Given the description of an element on the screen output the (x, y) to click on. 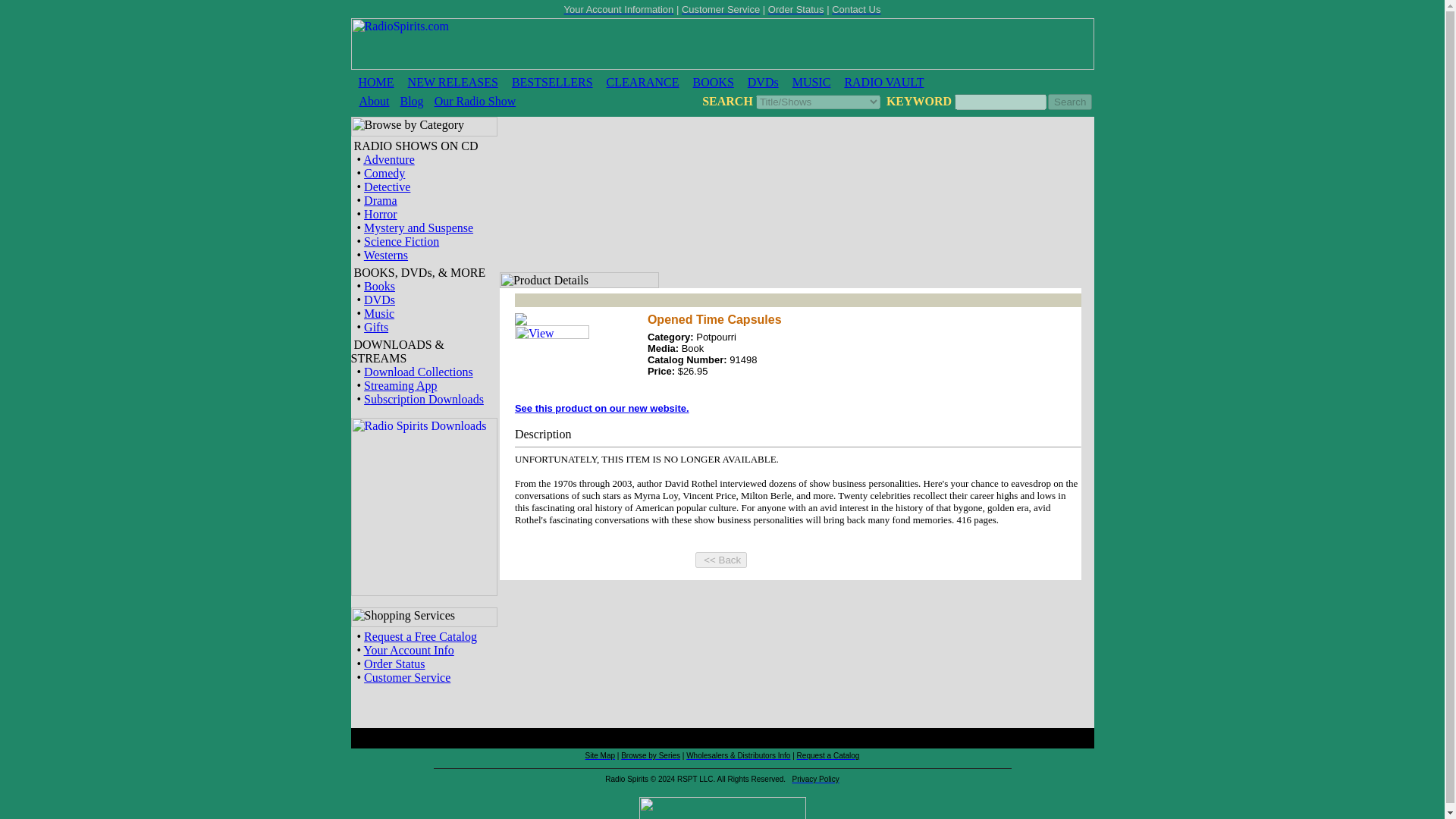
BESTSELLERS (552, 82)
RADIO VAULT (883, 82)
Order Status (394, 663)
Contact Us (855, 9)
Your Account Information (619, 9)
Download Collections (418, 371)
Adventure (388, 159)
DVDs (379, 299)
BOOKS (713, 82)
Streaming App (400, 385)
